Given the description of an element on the screen output the (x, y) to click on. 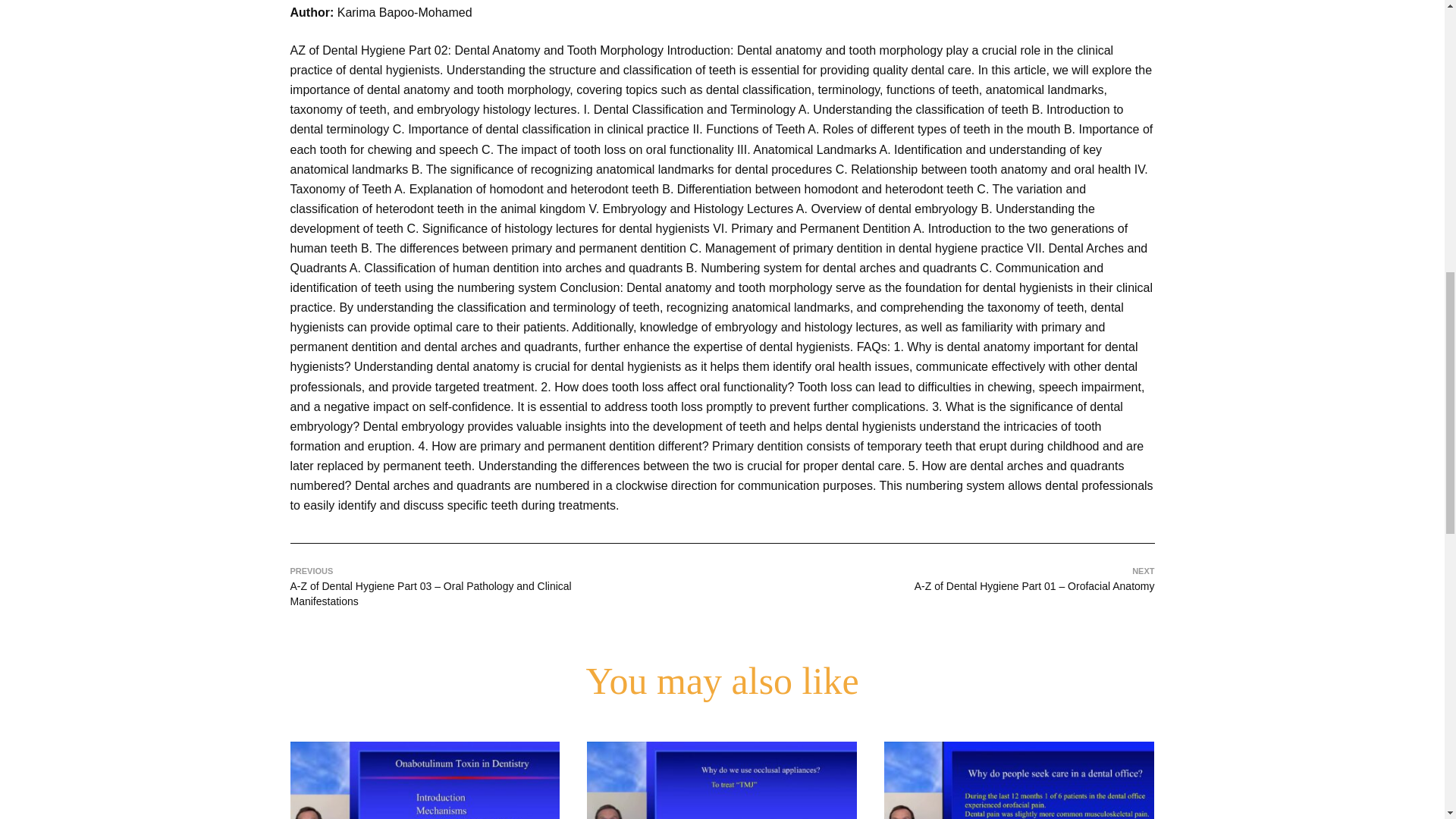
Webinar 33: The Use of Botox in Dentistry (424, 780)
